Given the description of an element on the screen output the (x, y) to click on. 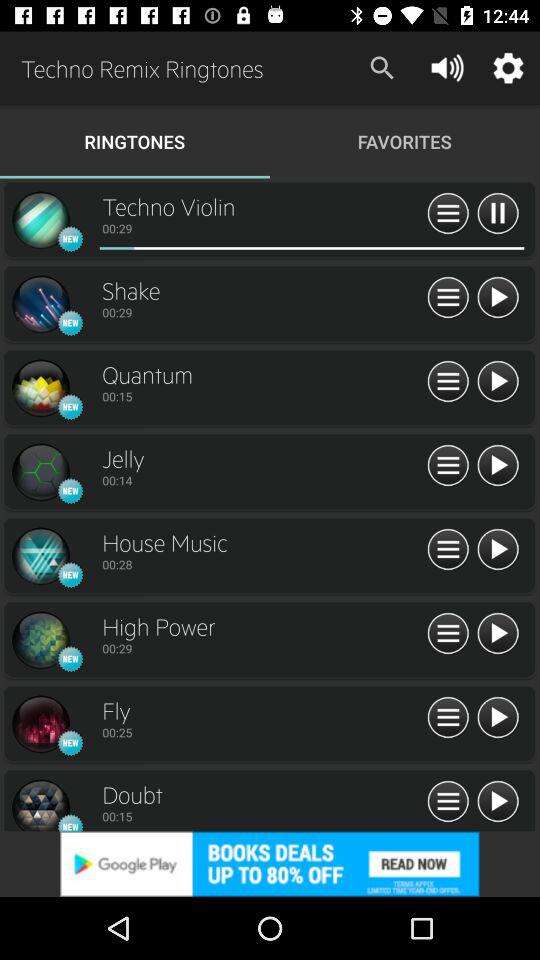
open ringtone (40, 724)
